Given the description of an element on the screen output the (x, y) to click on. 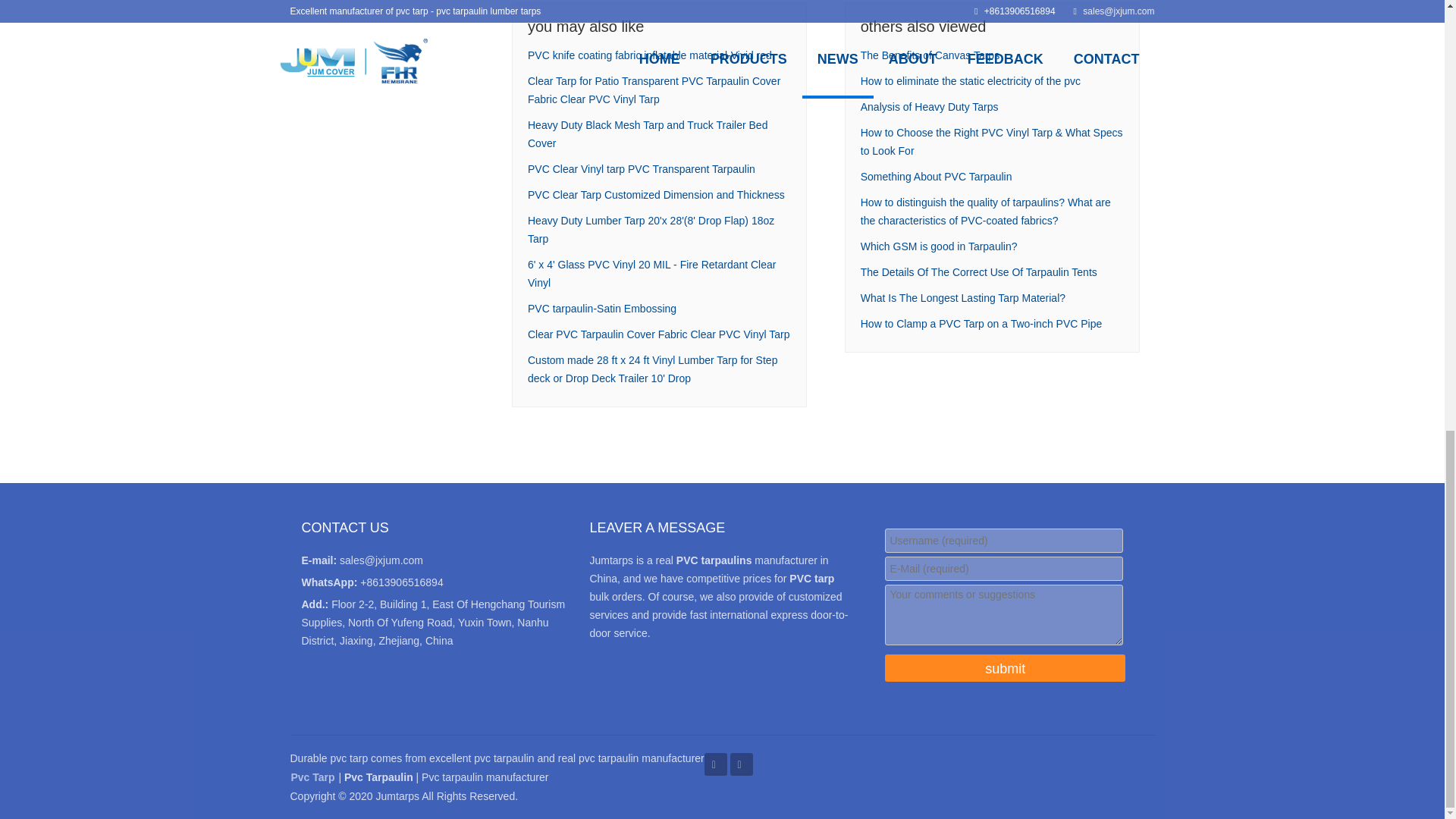
PVC Clear Tarp Customized Dimension and Thickness (655, 194)
PVC Clear Tarp Customized Dimension and Thickness (655, 194)
PVC Clear Vinyl tarp PVC Transparent Tarpaulin (641, 168)
Heavy Duty Black Mesh Tarp and Truck Trailer Bed Cover (647, 133)
6' x 4' Glass PVC Vinyl 20 MIL - Fire Retardant Clear Vinyl (651, 273)
PVC knife coating fabric inflatable material-Vivid red (649, 55)
What Is The Longest Lasting Tarp Material? (962, 297)
6' x 4' Glass PVC Vinyl 20 MIL - Fire Retardant Clear Vinyl (651, 273)
The Benefits of Canvas Tarps (929, 55)
PVC knife coating fabric inflatable material-Vivid red (649, 55)
PVC tarpaulin-Satin Embossing (602, 308)
How to Clamp a PVC Tarp on a Two-inch PVC Pipe (981, 323)
